Given the description of an element on the screen output the (x, y) to click on. 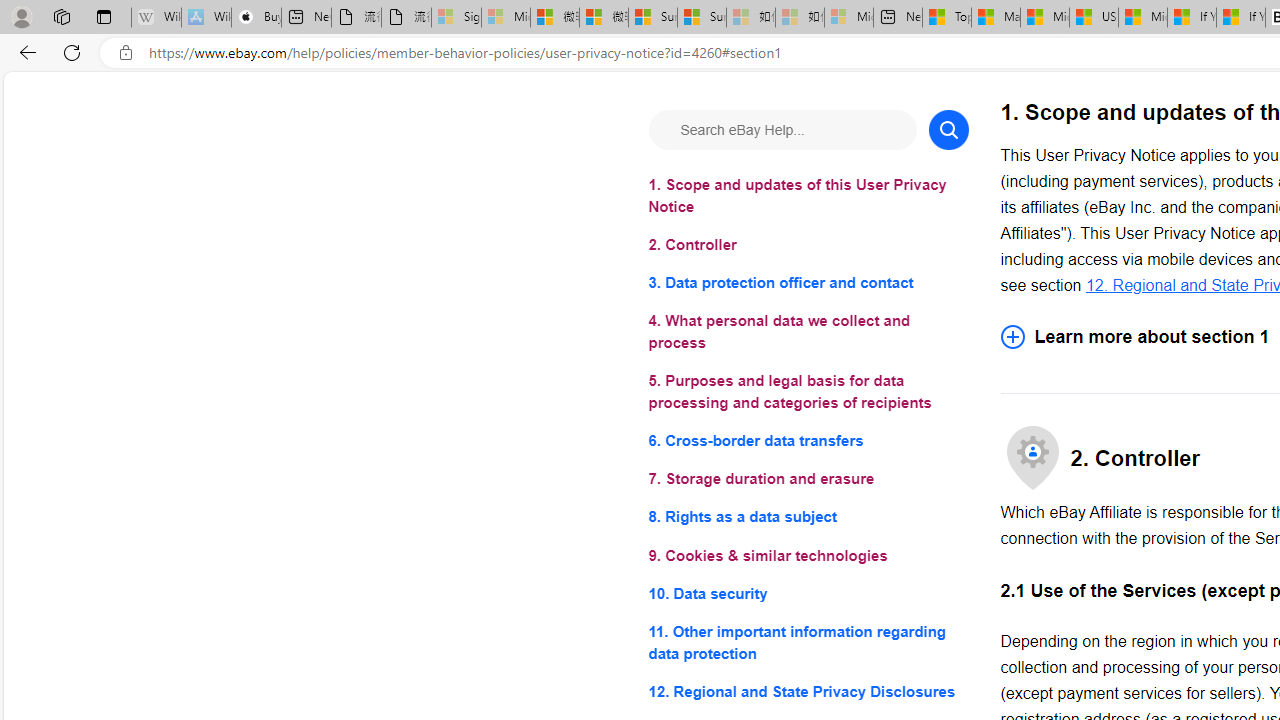
1. Scope and updates of this User Privacy Notice (807, 196)
6. Cross-border data transfers (807, 440)
8. Rights as a data subject (807, 517)
Buy iPad - Apple (256, 17)
Microsoft Services Agreement - Sleeping (505, 17)
Marine life - MSN (995, 17)
2. Controller (807, 245)
2. Controller (807, 245)
4. What personal data we collect and process (807, 332)
Microsoft account | Account Checkup - Sleeping (848, 17)
